Given the description of an element on the screen output the (x, y) to click on. 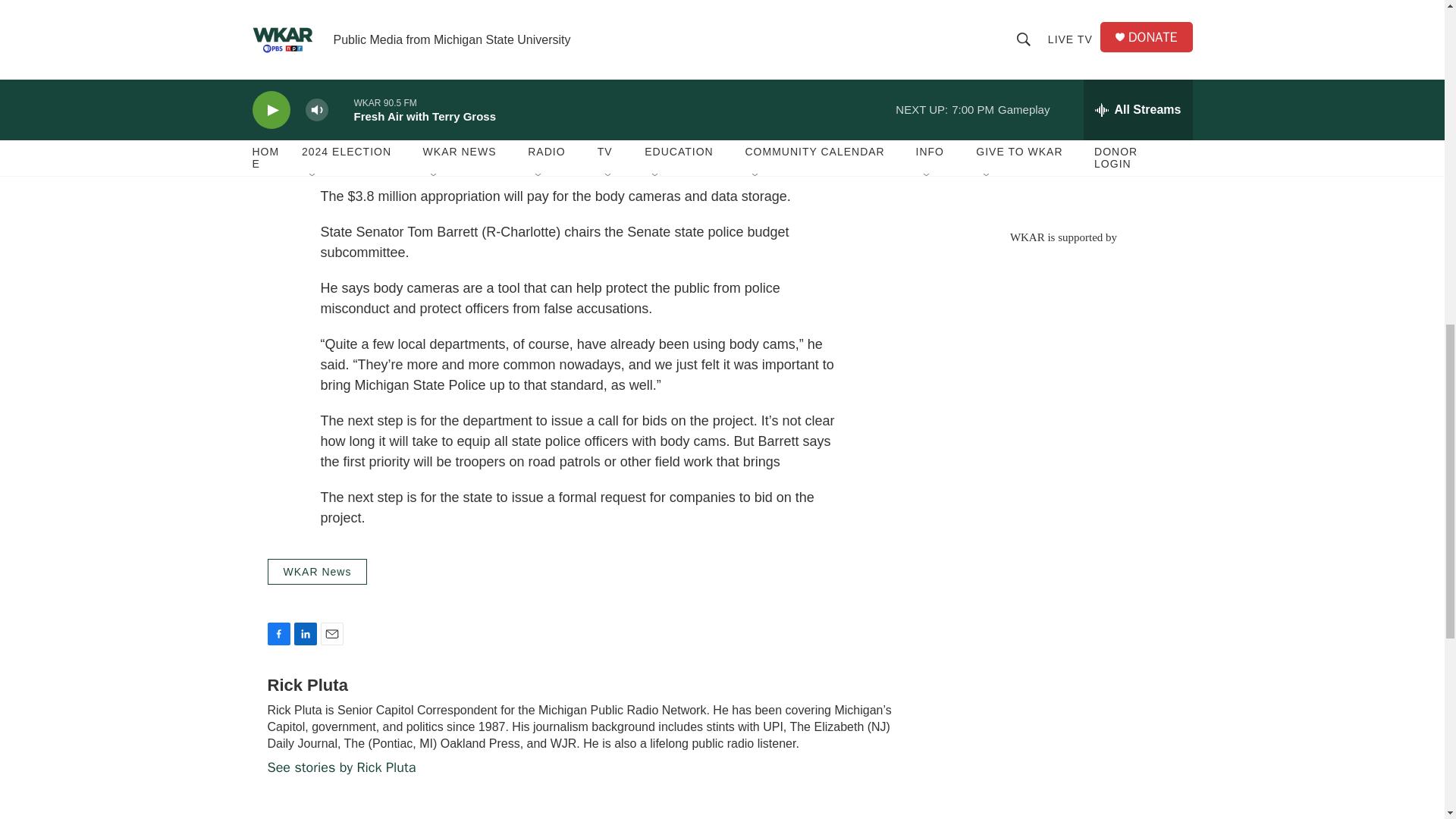
3rd party ad content (1062, 353)
3rd party ad content (1062, 105)
